Given the description of an element on the screen output the (x, y) to click on. 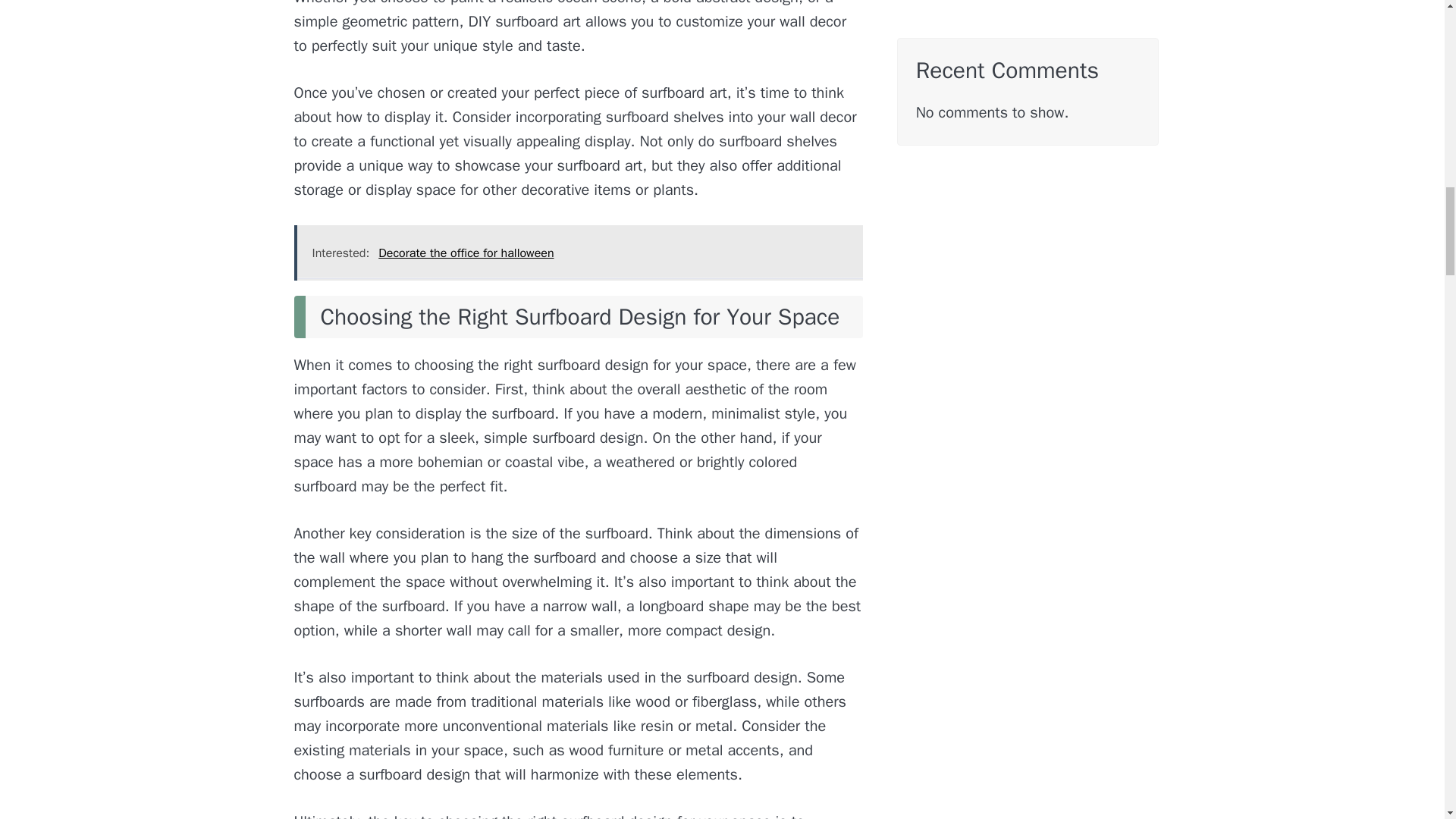
Interested:  Decorate the office for halloween (578, 252)
